Given the description of an element on the screen output the (x, y) to click on. 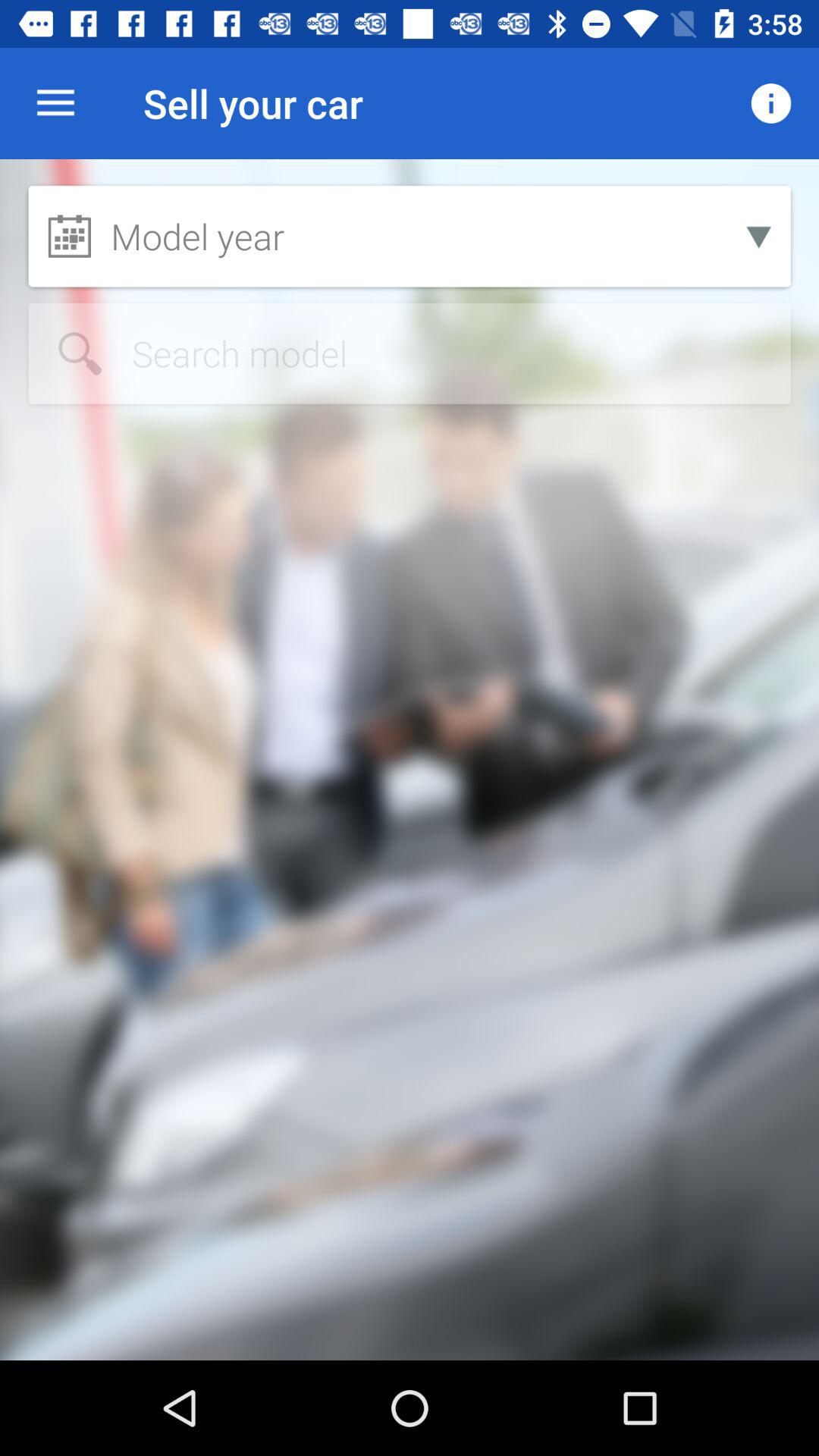
launch the icon next to sell your car item (771, 103)
